Given the description of an element on the screen output the (x, y) to click on. 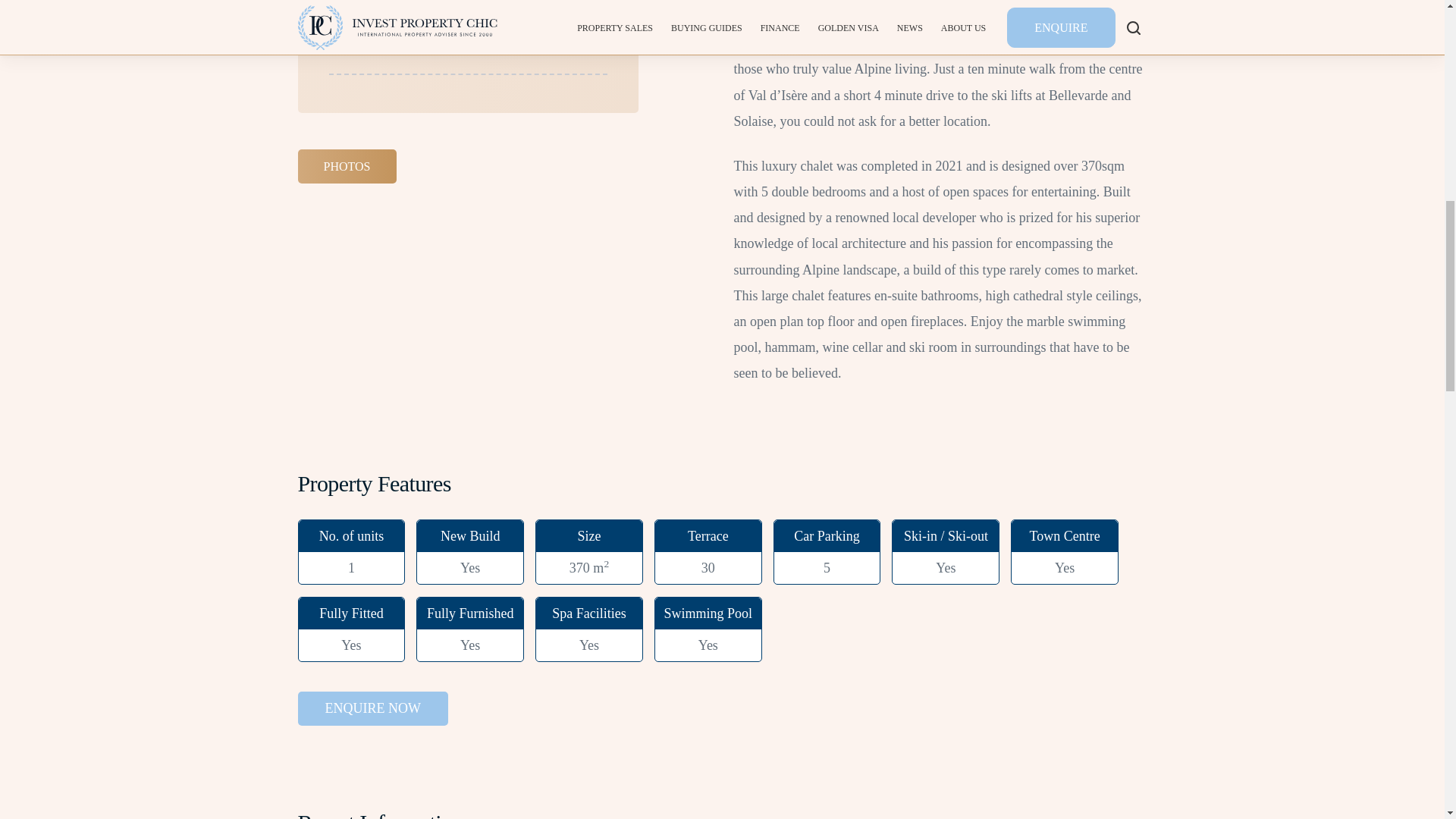
ENQUIRE NOW (371, 708)
